Given the description of an element on the screen output the (x, y) to click on. 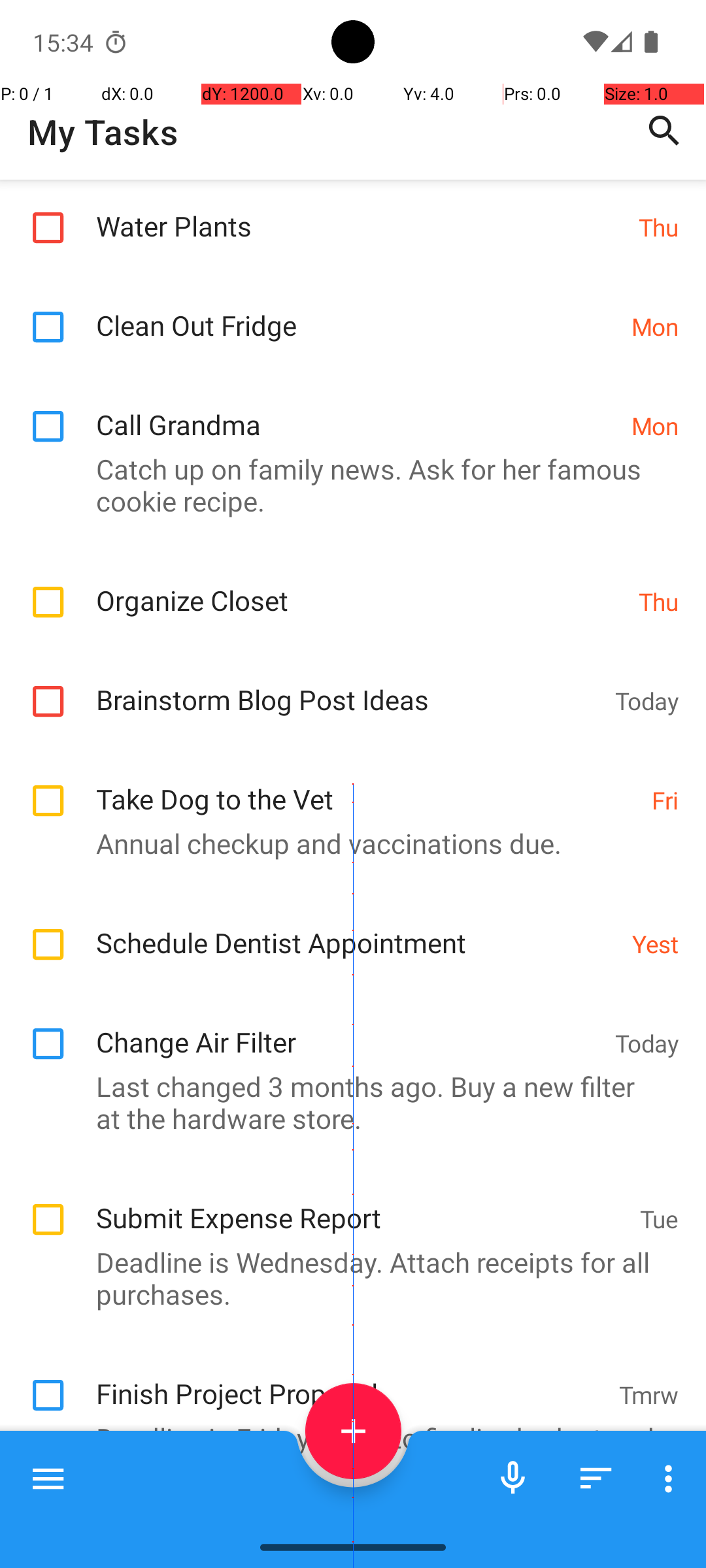
Code Review Element type: android.widget.TextView (346, 1524)
